Given the description of an element on the screen output the (x, y) to click on. 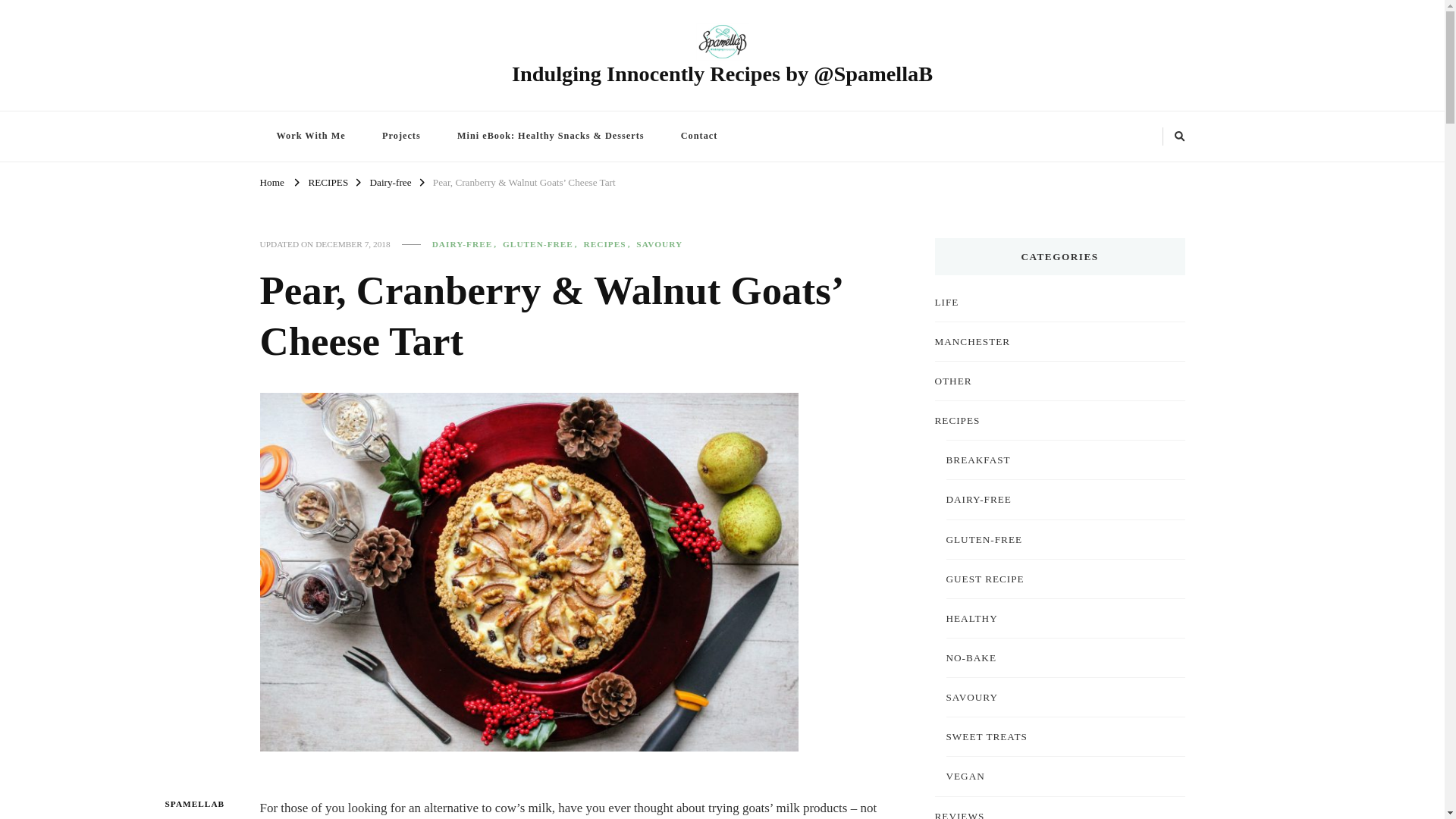
SPAMELLAB (193, 804)
Contact (699, 135)
RECIPES (327, 181)
Work With Me (310, 135)
RECIPES (608, 244)
DECEMBER 7, 2018 (352, 244)
SAVOURY (659, 244)
Dairy-free (390, 181)
Search (1155, 136)
Projects (401, 135)
